Given the description of an element on the screen output the (x, y) to click on. 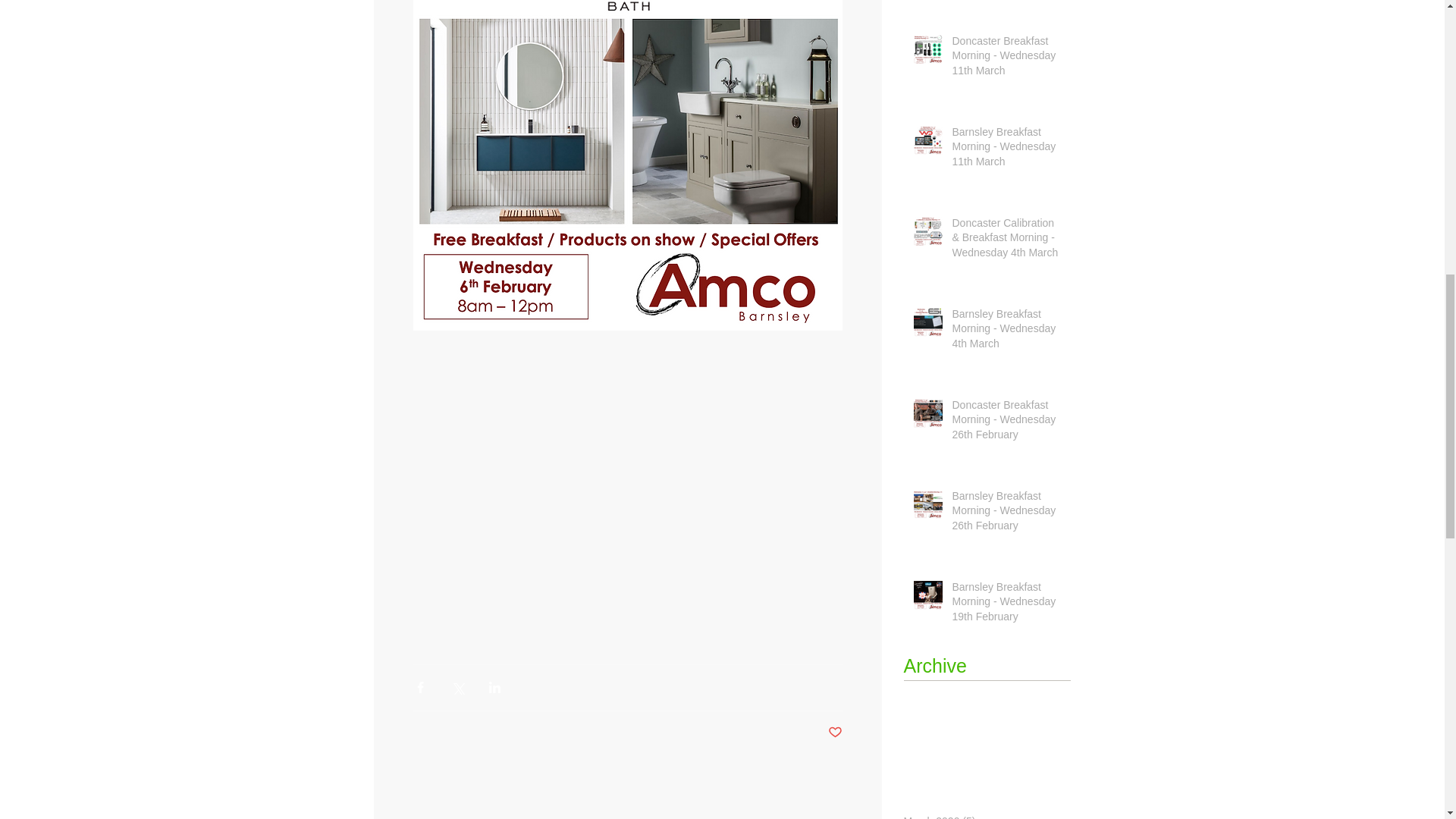
Barnsley Breakfast Morning - Wednesday 26th February (1006, 513)
Doncaster Breakfast Morning - Wednesday 11th March (1006, 59)
Barnsley Breakfast Morning - Wednesday 19th February (1006, 604)
Doncaster Breakfast Morning - Wednesday 26th February (1006, 423)
Post not marked as liked (835, 732)
Barnsley Breakfast Morning - Wednesday 11th March (1006, 150)
Barnsley Breakfast Morning - Wednesday 4th March (1006, 332)
